Given the description of an element on the screen output the (x, y) to click on. 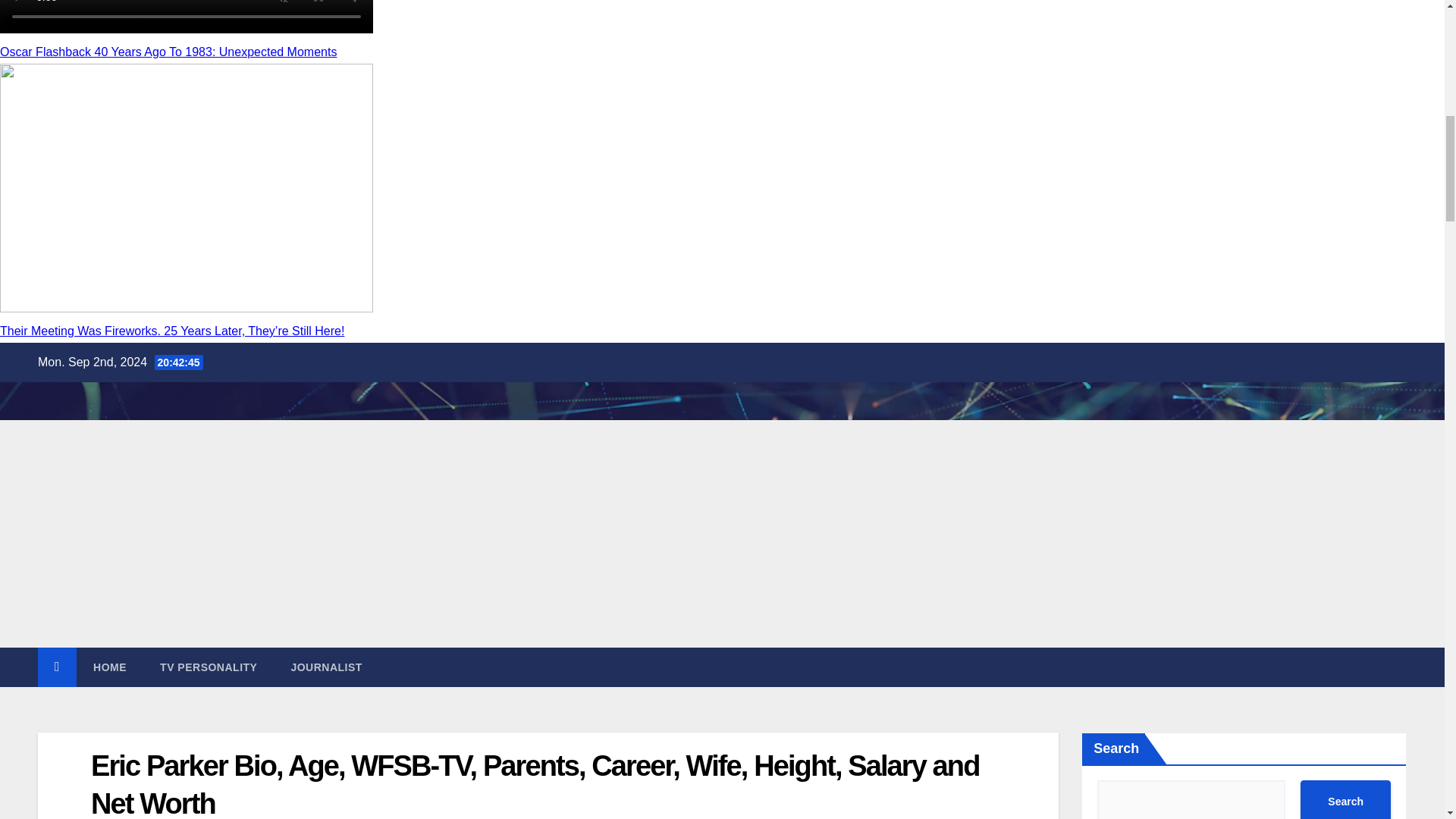
Home (109, 667)
TV Personality (207, 667)
TV PERSONALITY (207, 667)
Journalist (325, 667)
HOME (109, 667)
JOURNALIST (325, 667)
Search (1345, 799)
